Given the description of an element on the screen output the (x, y) to click on. 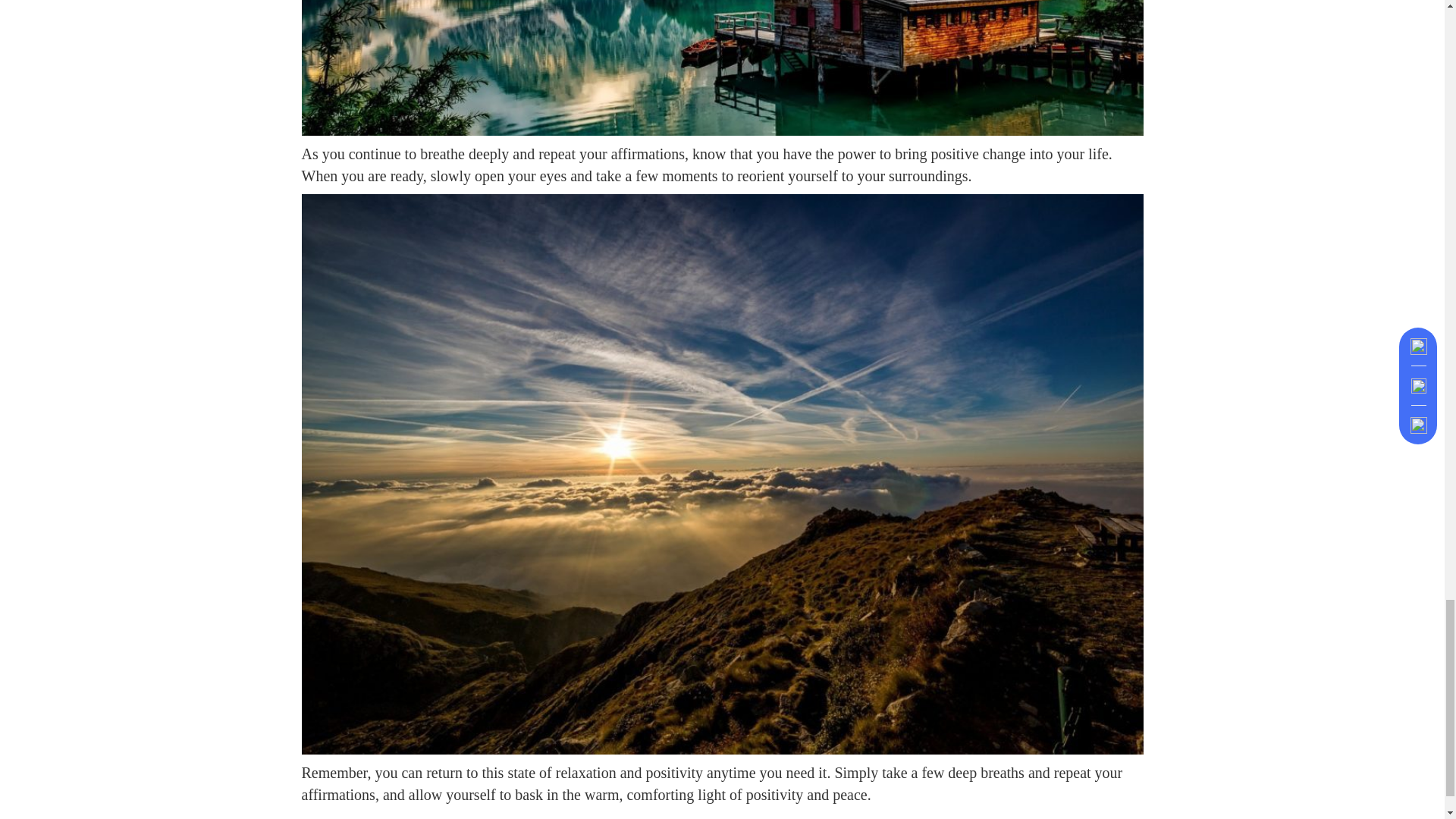
comforting light of positivity and peace. (746, 794)
